Given the description of an element on the screen output the (x, y) to click on. 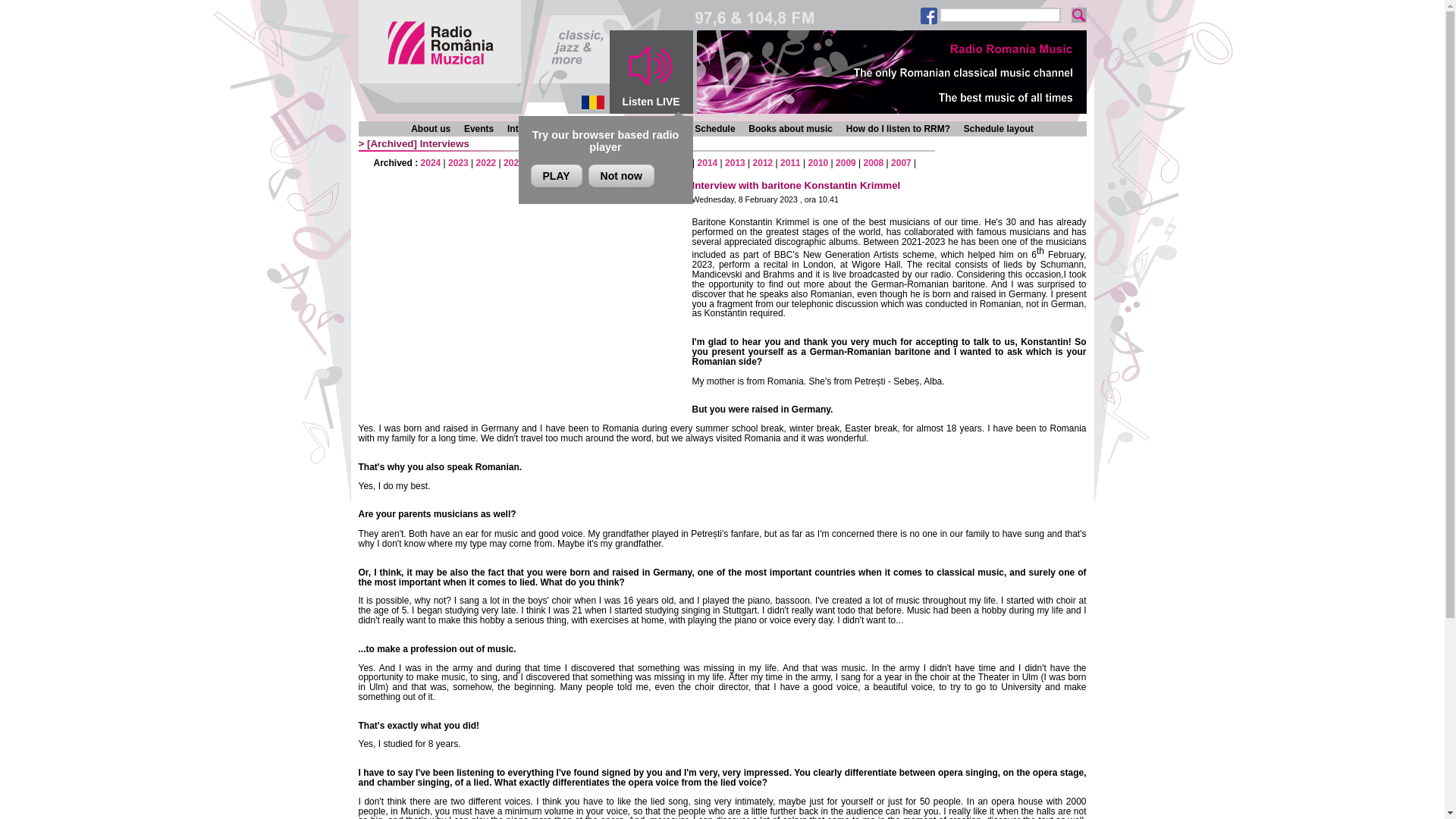
Schedule (714, 128)
PLAY (556, 175)
2013 (735, 163)
2020 (541, 163)
Schedule layout (998, 128)
2017 (624, 163)
2021 (513, 163)
2011 (790, 163)
Chronicles (587, 128)
2019 (569, 163)
